Given the description of an element on the screen output the (x, y) to click on. 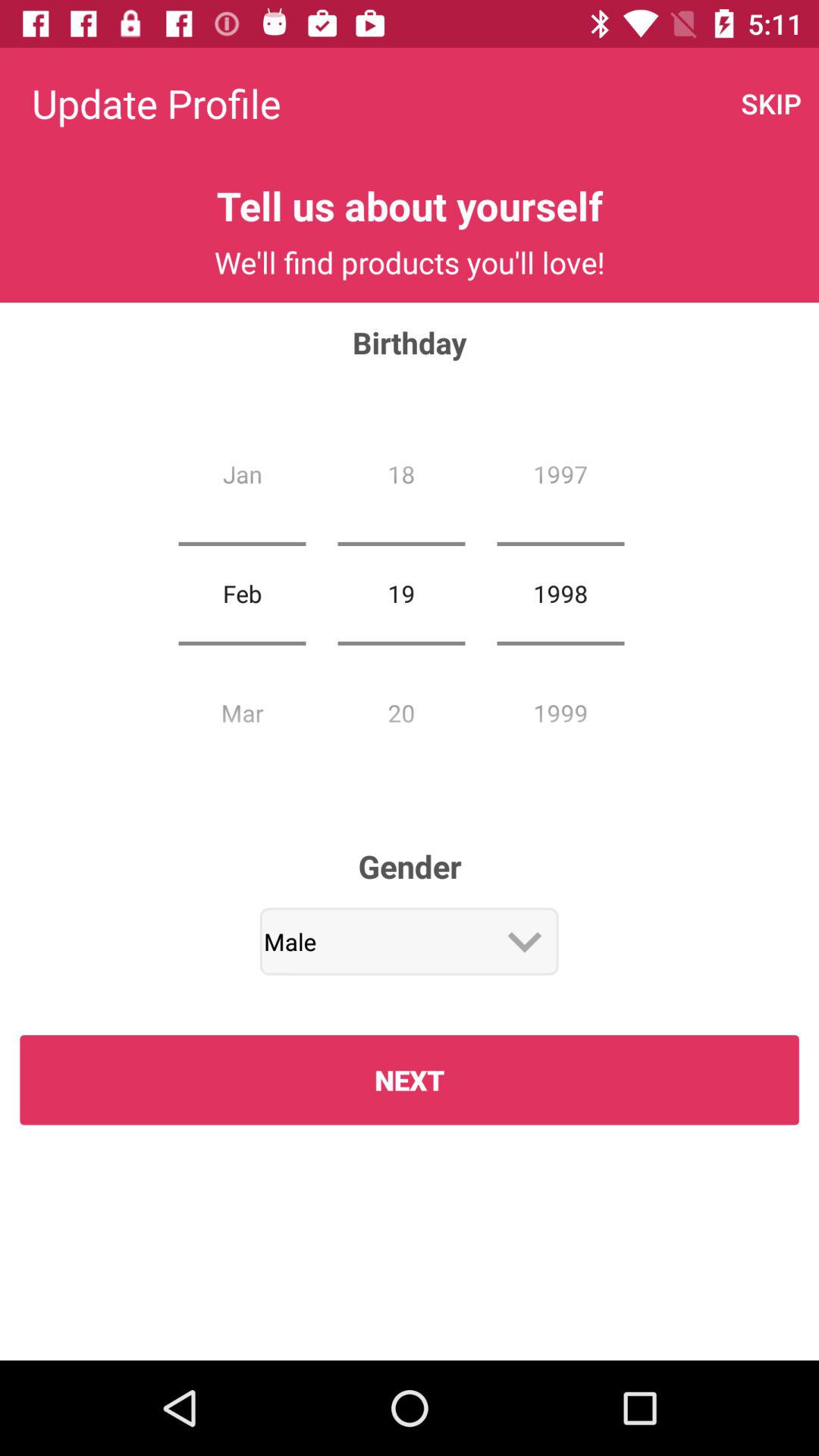
launch icon below male (409, 1079)
